Given the description of an element on the screen output the (x, y) to click on. 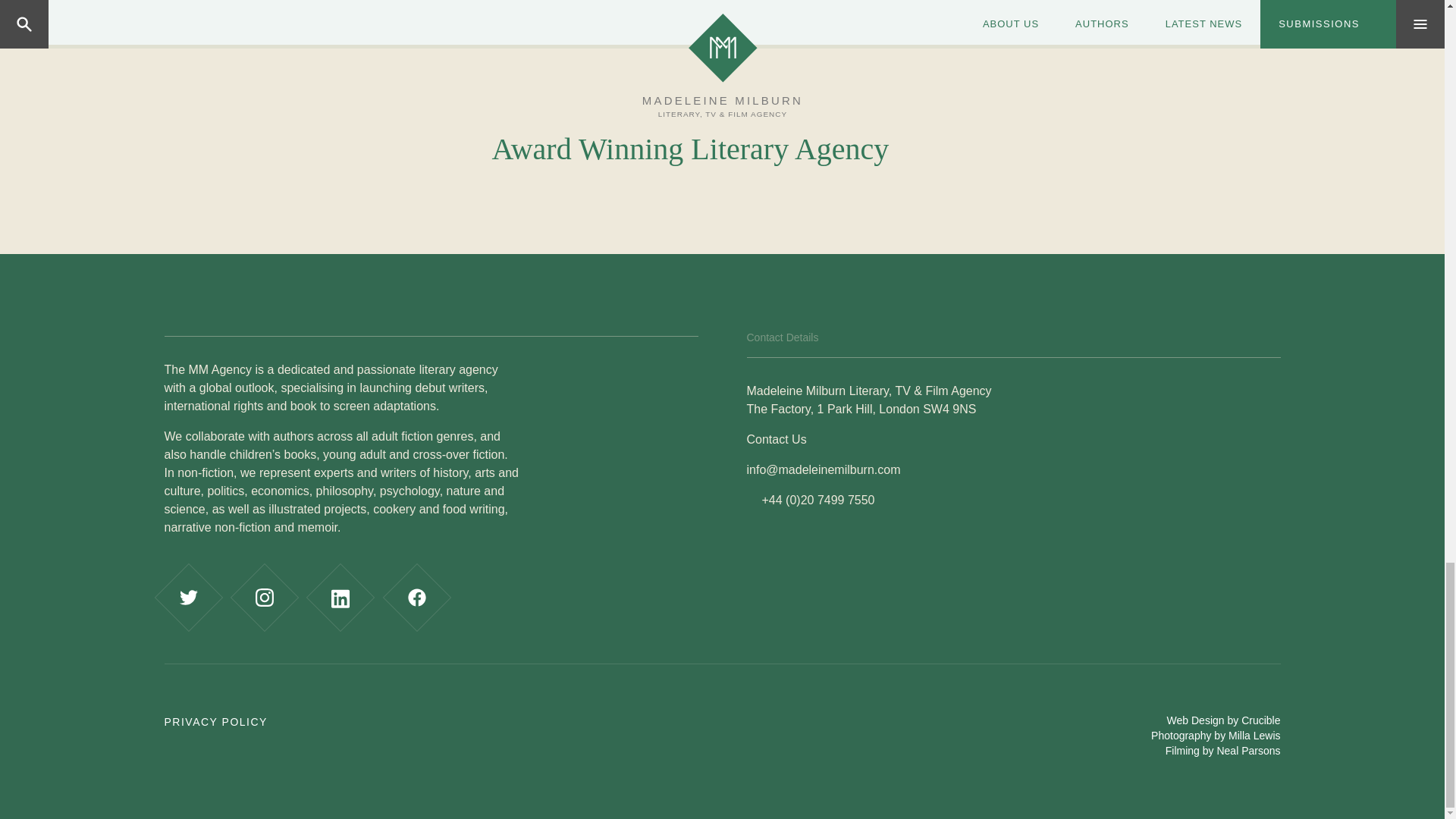
Web Design by Crucible (1224, 720)
PRIVACY POLICY (214, 721)
Photography by Milla Lewis (1215, 735)
Contact Us (775, 439)
